Given the description of an element on the screen output the (x, y) to click on. 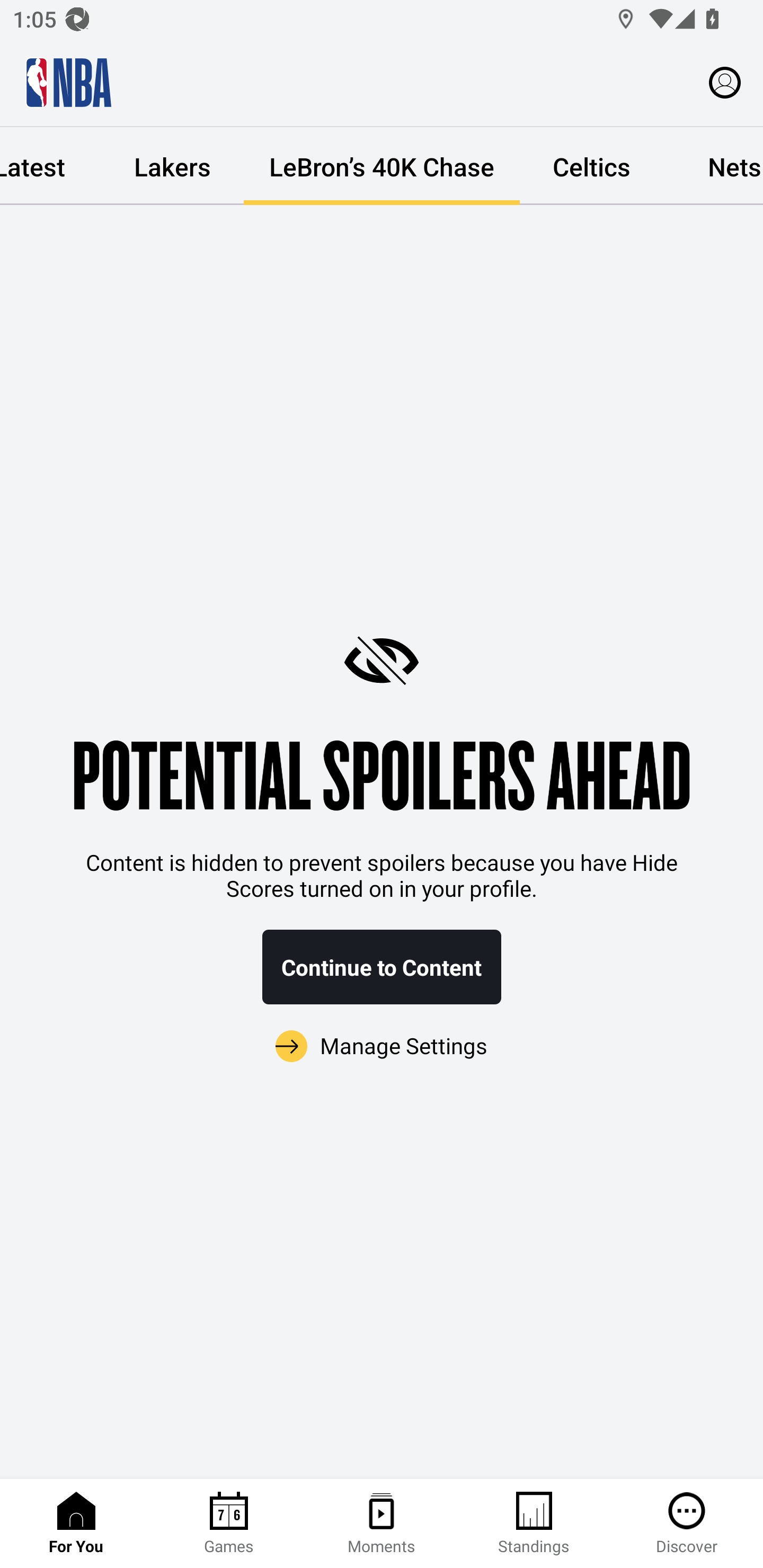
Profile (724, 81)
Lakers (171, 166)
Celtics (591, 166)
Continue to Content (381, 967)
Manage Settings (381, 1046)
Games (228, 1523)
Moments (381, 1523)
Standings (533, 1523)
Discover (686, 1523)
